Given the description of an element on the screen output the (x, y) to click on. 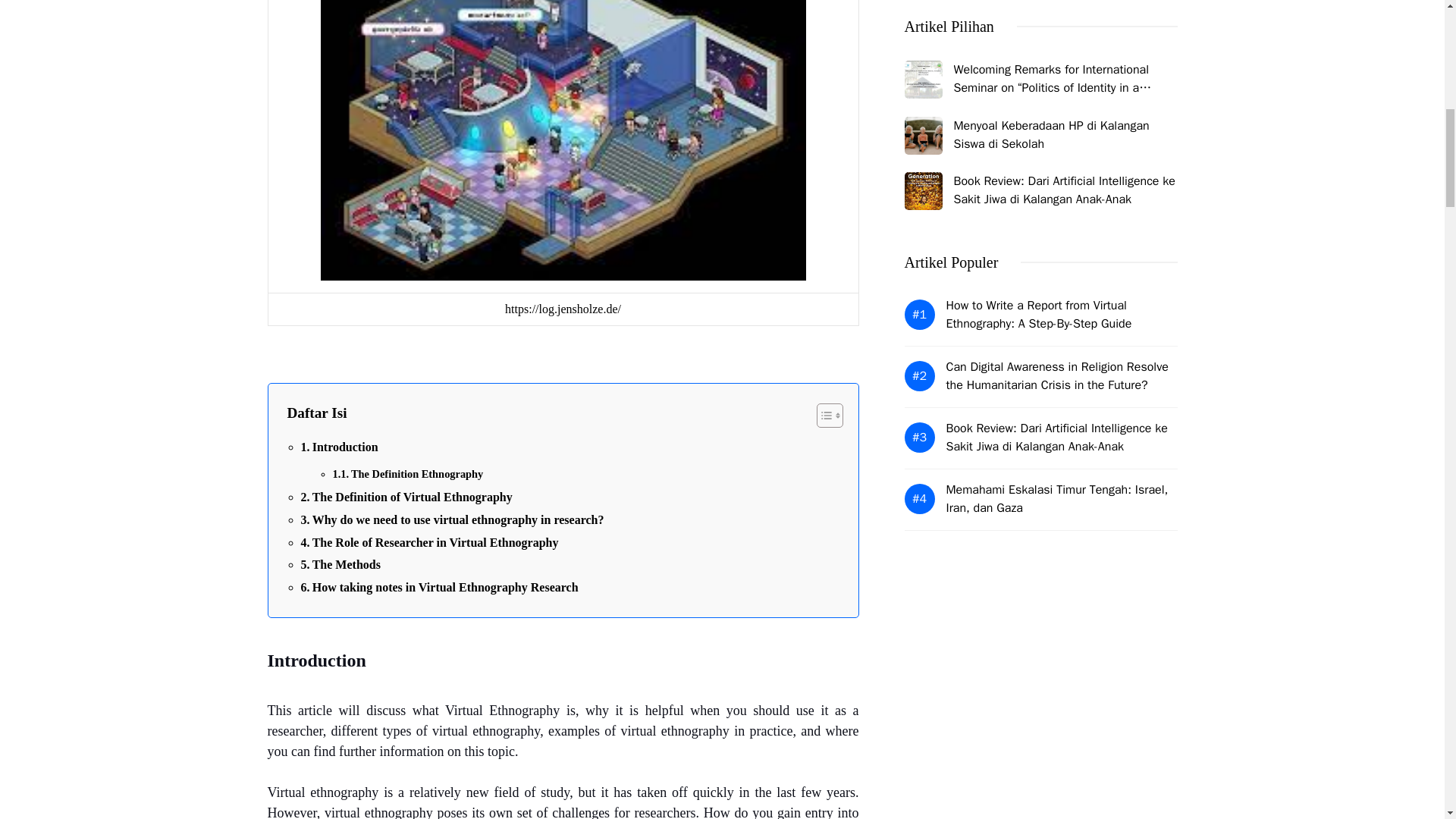
Why do we need to use virtual ethnography in research? (451, 519)
The Methods (339, 564)
The Role of Researcher in Virtual Ethnography (428, 542)
Introduction (338, 447)
The Definition Ethnography (407, 474)
How taking notes in Virtual Ethnography Research (438, 587)
The Methods (339, 564)
The Role of Researcher in Virtual Ethnography (428, 542)
The Definition Ethnography (407, 474)
The Definition of Virtual Ethnography (405, 496)
Introduction (338, 447)
How taking notes in Virtual Ethnography Research (438, 587)
Why do we need to use virtual ethnography in research? (451, 519)
The Definition of Virtual Ethnography (405, 496)
